Given the description of an element on the screen output the (x, y) to click on. 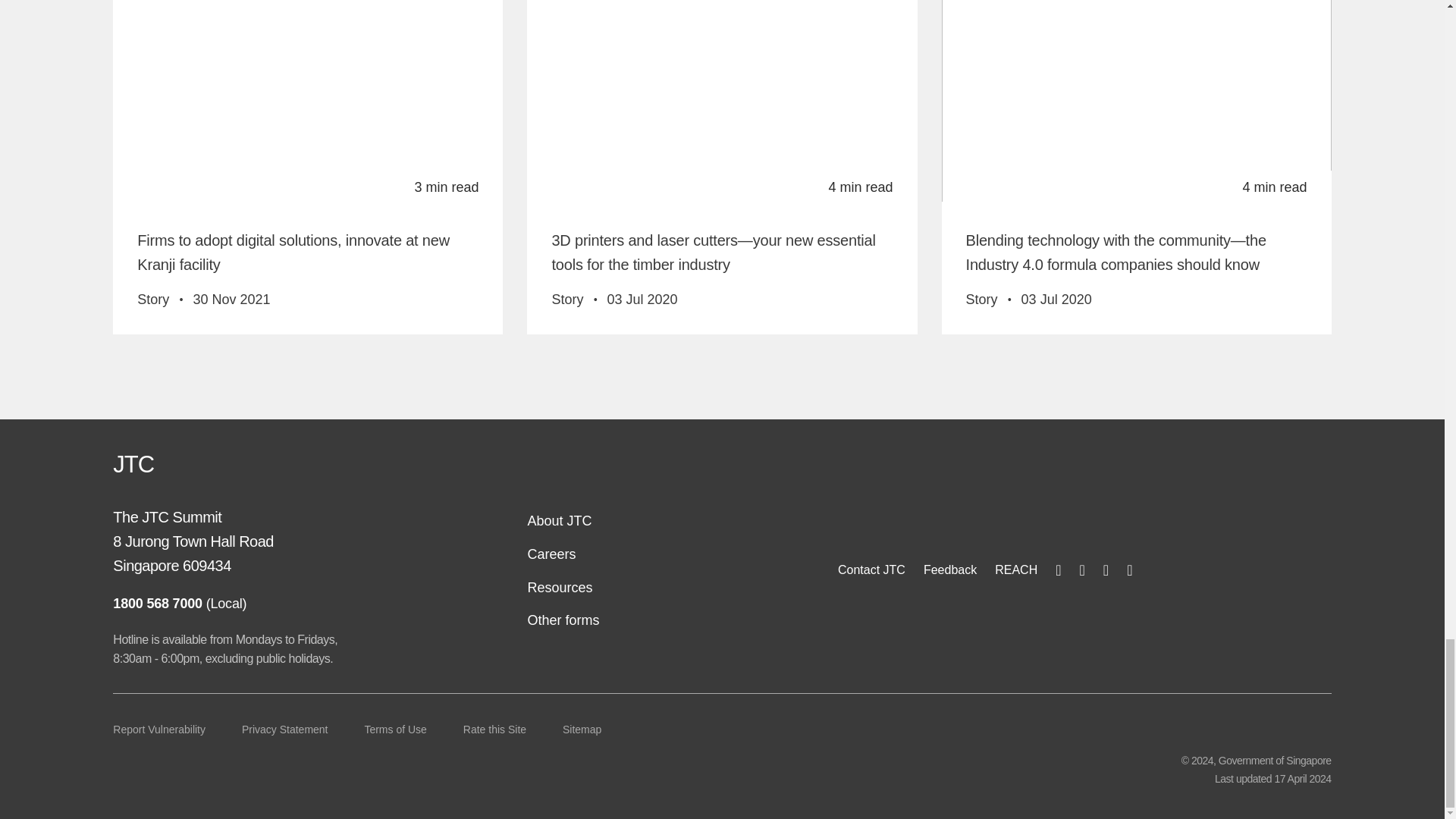
Careers (551, 554)
Facebook (1058, 569)
About JTC (559, 520)
Resources (559, 587)
Instagram (1082, 569)
